Given the description of an element on the screen output the (x, y) to click on. 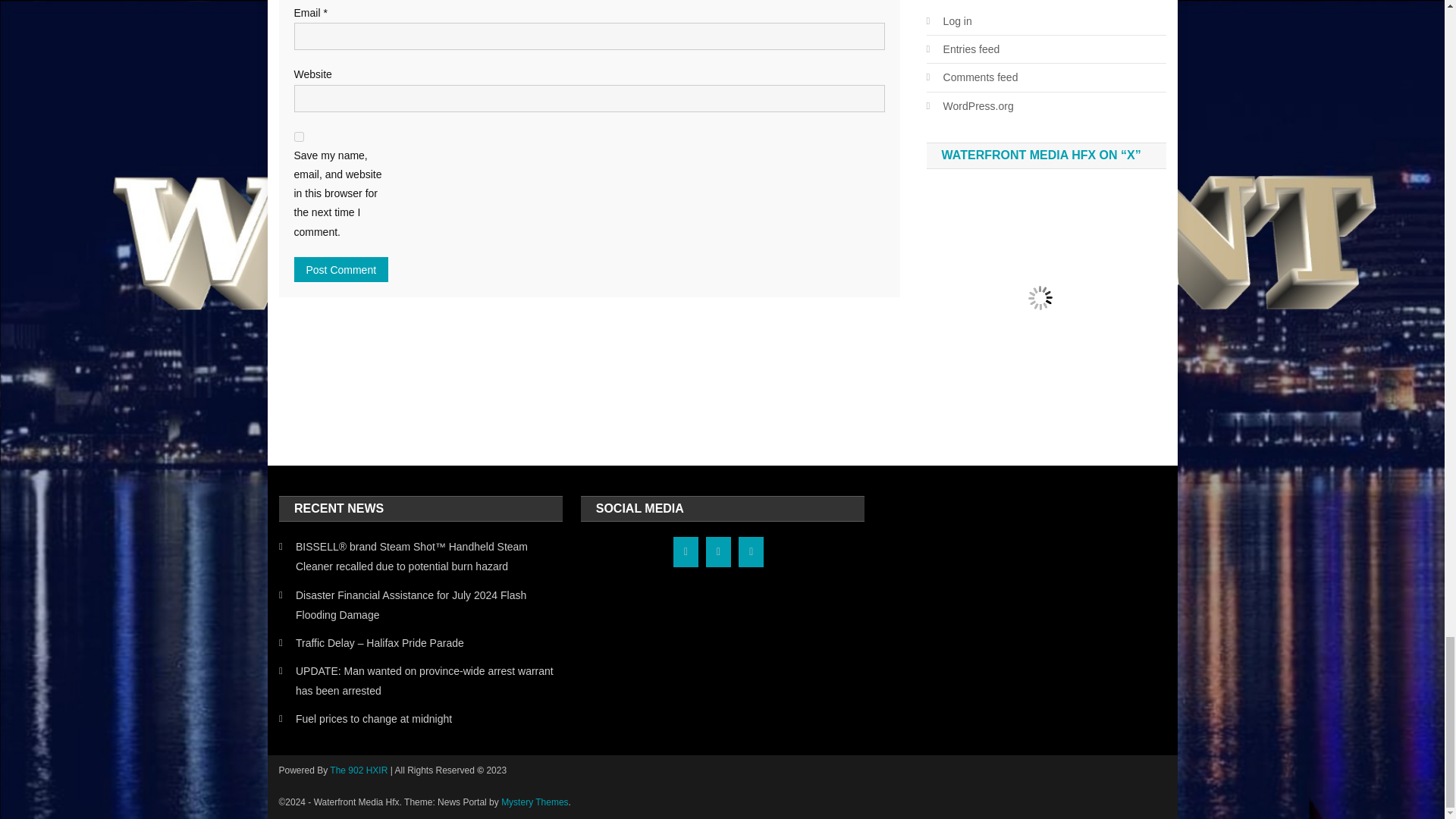
Post Comment (341, 269)
yes (299, 136)
Post Comment (341, 269)
